Given the description of an element on the screen output the (x, y) to click on. 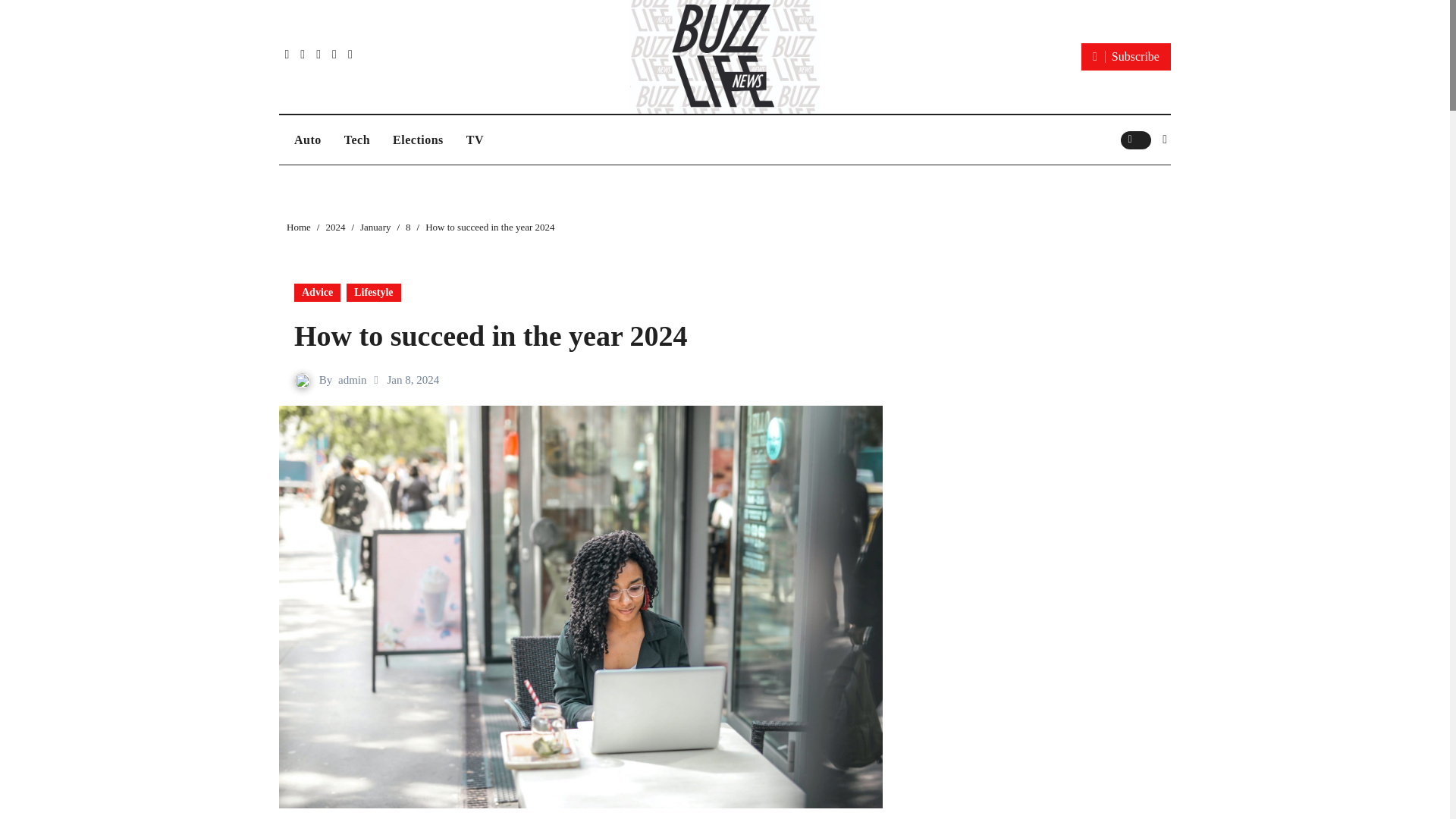
Tech (357, 139)
TV (474, 139)
2024 (334, 226)
Auto (307, 139)
Permalink to: How to succeed in the year 2024 (490, 336)
How to succeed in the year 2024 (490, 336)
Auto (307, 139)
Elections (417, 139)
Advice (317, 292)
admin (351, 379)
